Given the description of an element on the screen output the (x, y) to click on. 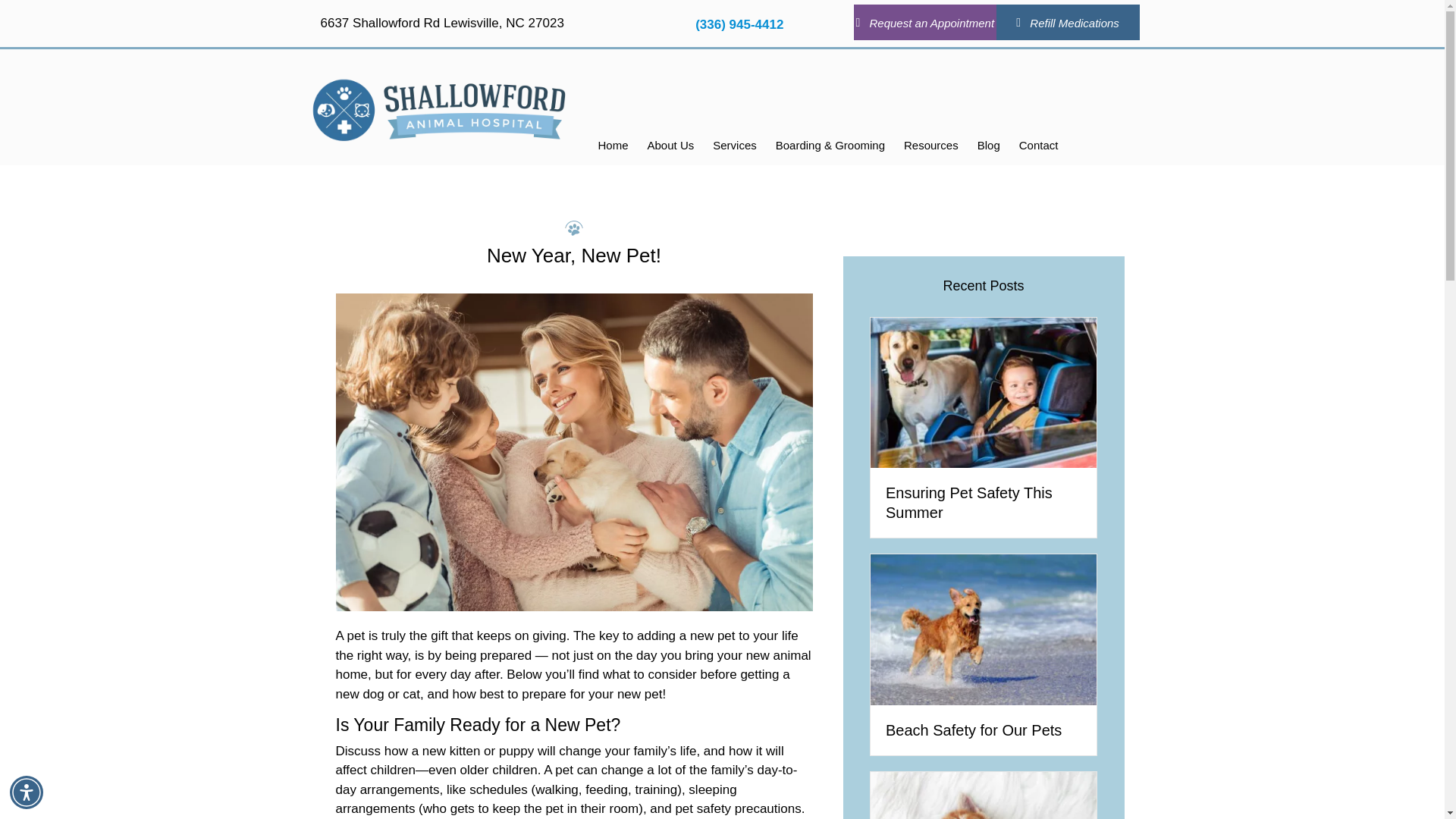
Home (612, 145)
shallowford logo d (438, 109)
Request an Appointment (924, 22)
Refill Medications (1067, 22)
Ensuring Pet Safety This Summer (983, 391)
Contact (1038, 145)
Services (734, 145)
Blog (988, 145)
6637 Shallowford Rd Lewisville, NC 27023 (441, 22)
